Given the description of an element on the screen output the (x, y) to click on. 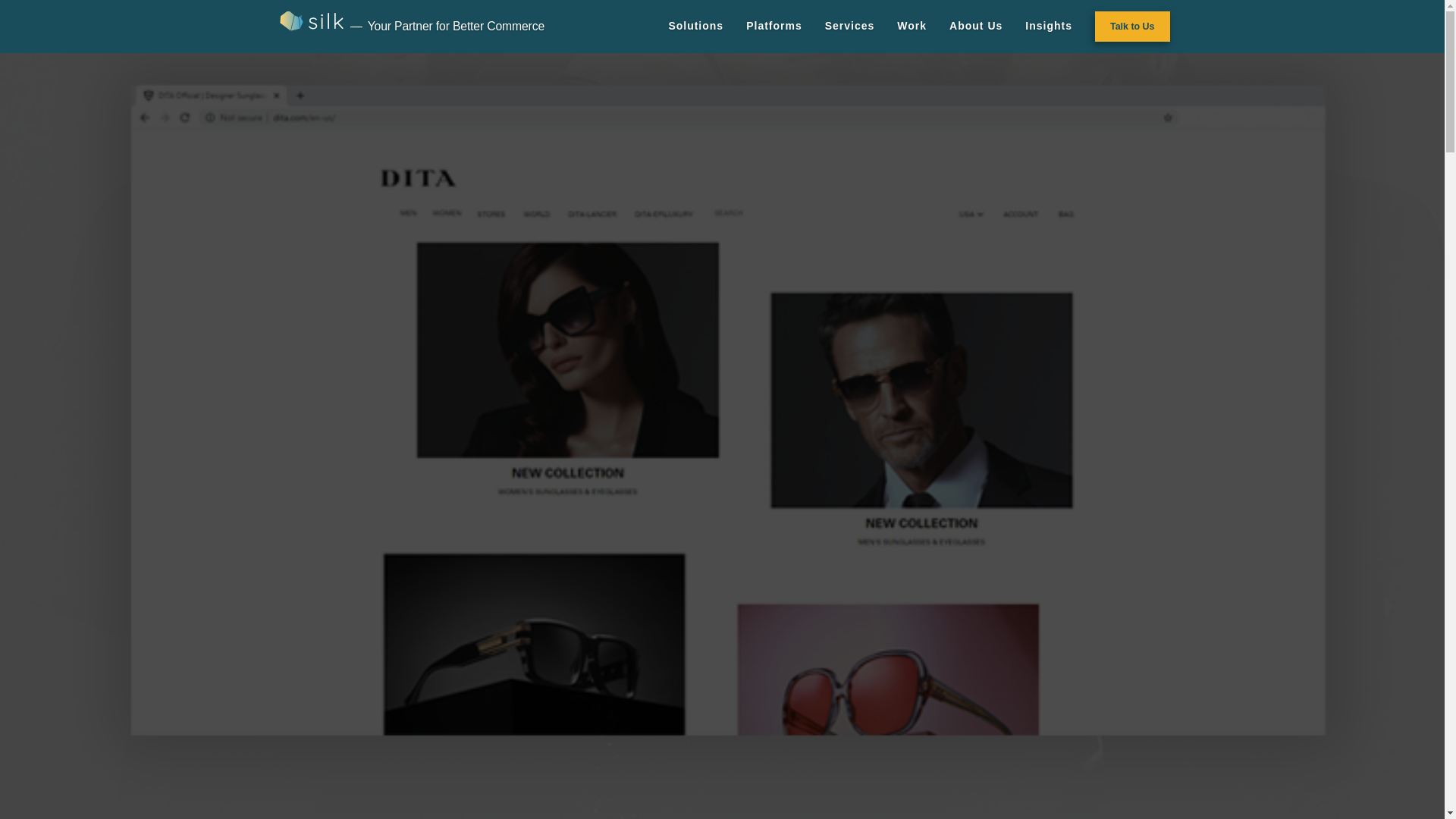
About Us (975, 26)
Solutions (695, 26)
Work (911, 26)
Services (849, 26)
Platforms (774, 26)
Insights (1048, 26)
